Given the description of an element on the screen output the (x, y) to click on. 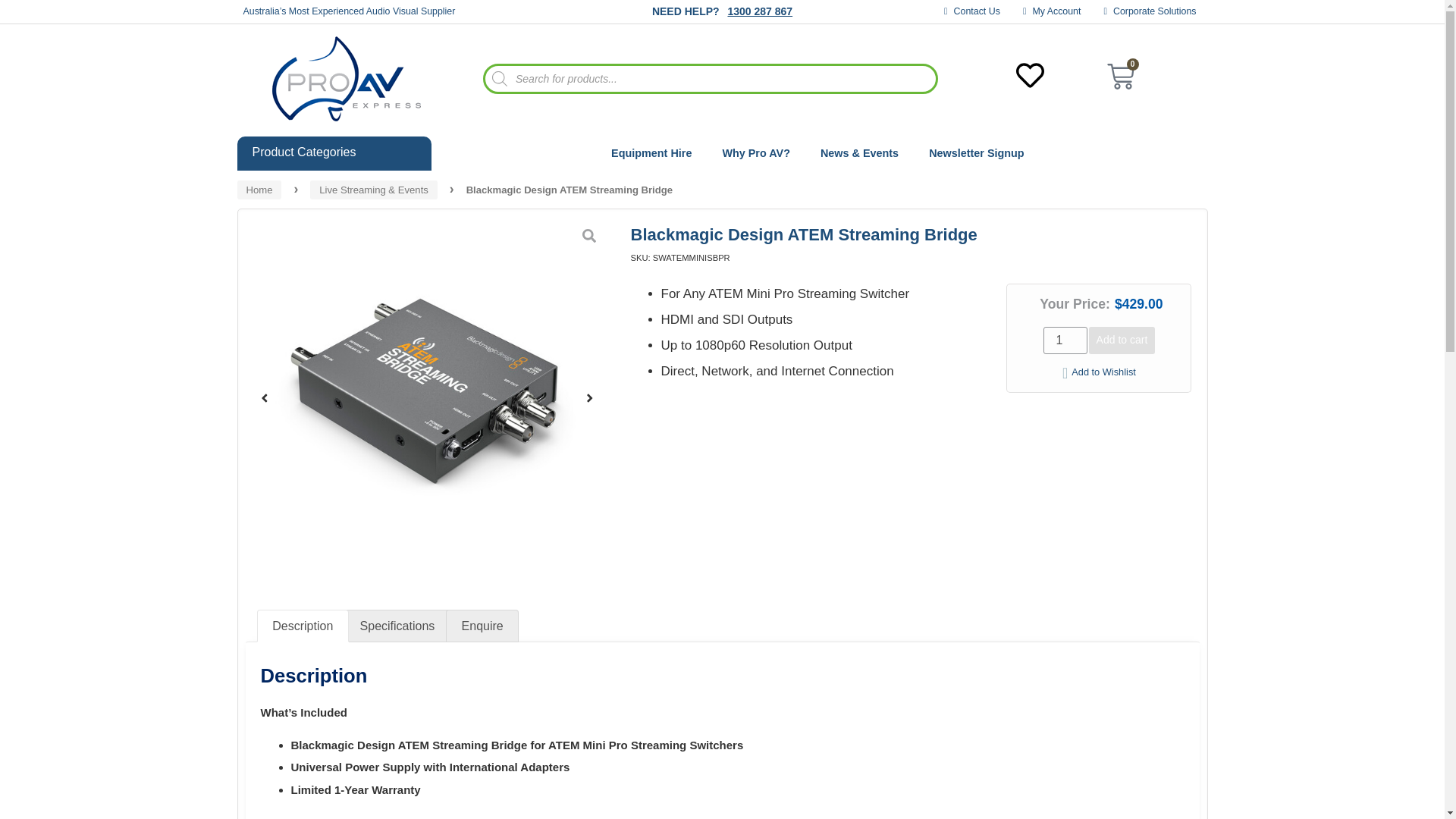
1 (1065, 339)
My Account (1052, 10)
Contact Us (971, 10)
Product Categories (332, 153)
1300 287 867 (759, 10)
SWATEMMINISBPR 3 (789, 398)
SWATEMMINISBPR 2 (427, 398)
Corporate Solutions (1149, 10)
0 (1120, 78)
